Given the description of an element on the screen output the (x, y) to click on. 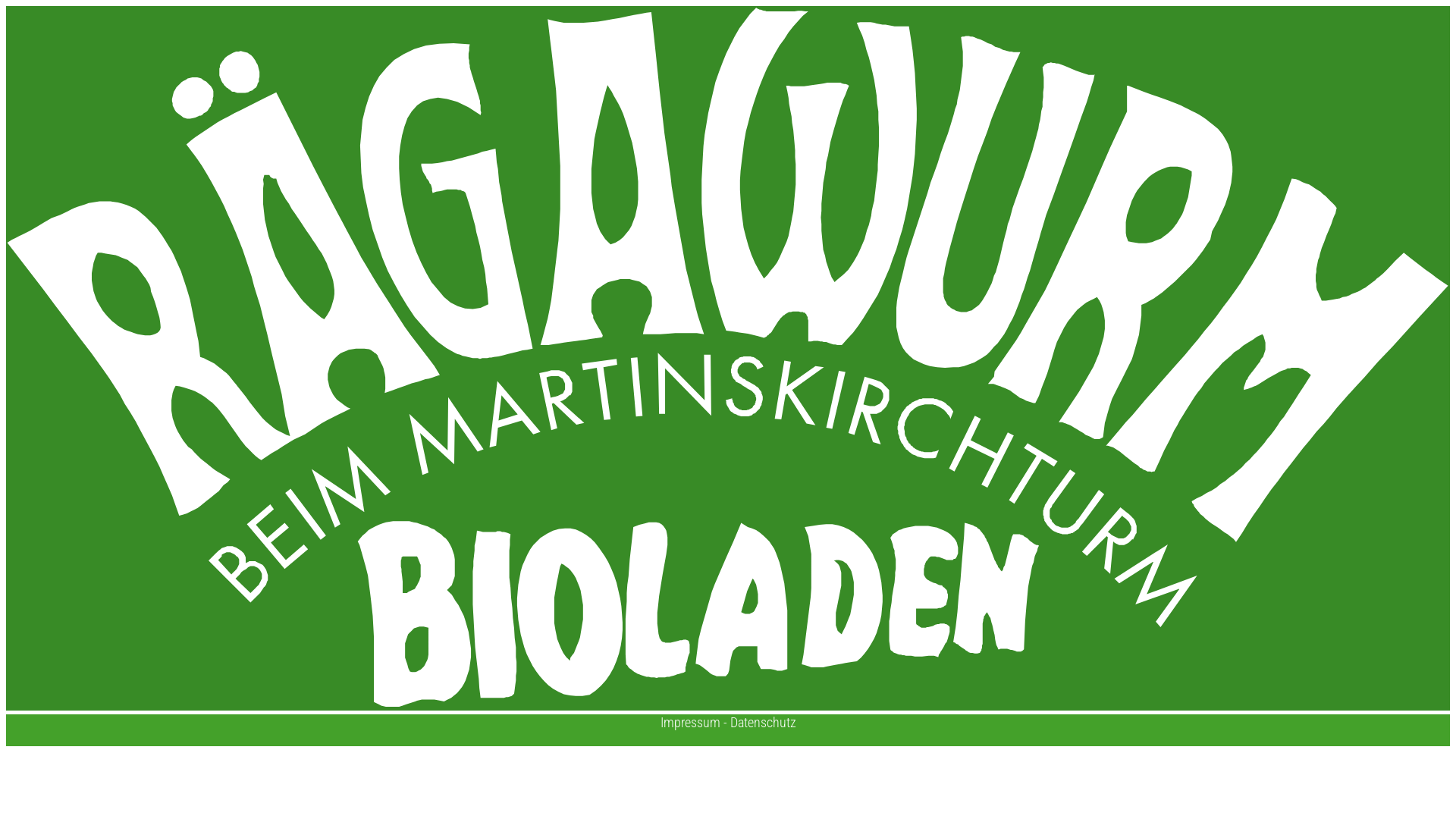
Datenschutz Element type: text (762, 722)
Impressum Element type: text (689, 722)
